Given the description of an element on the screen output the (x, y) to click on. 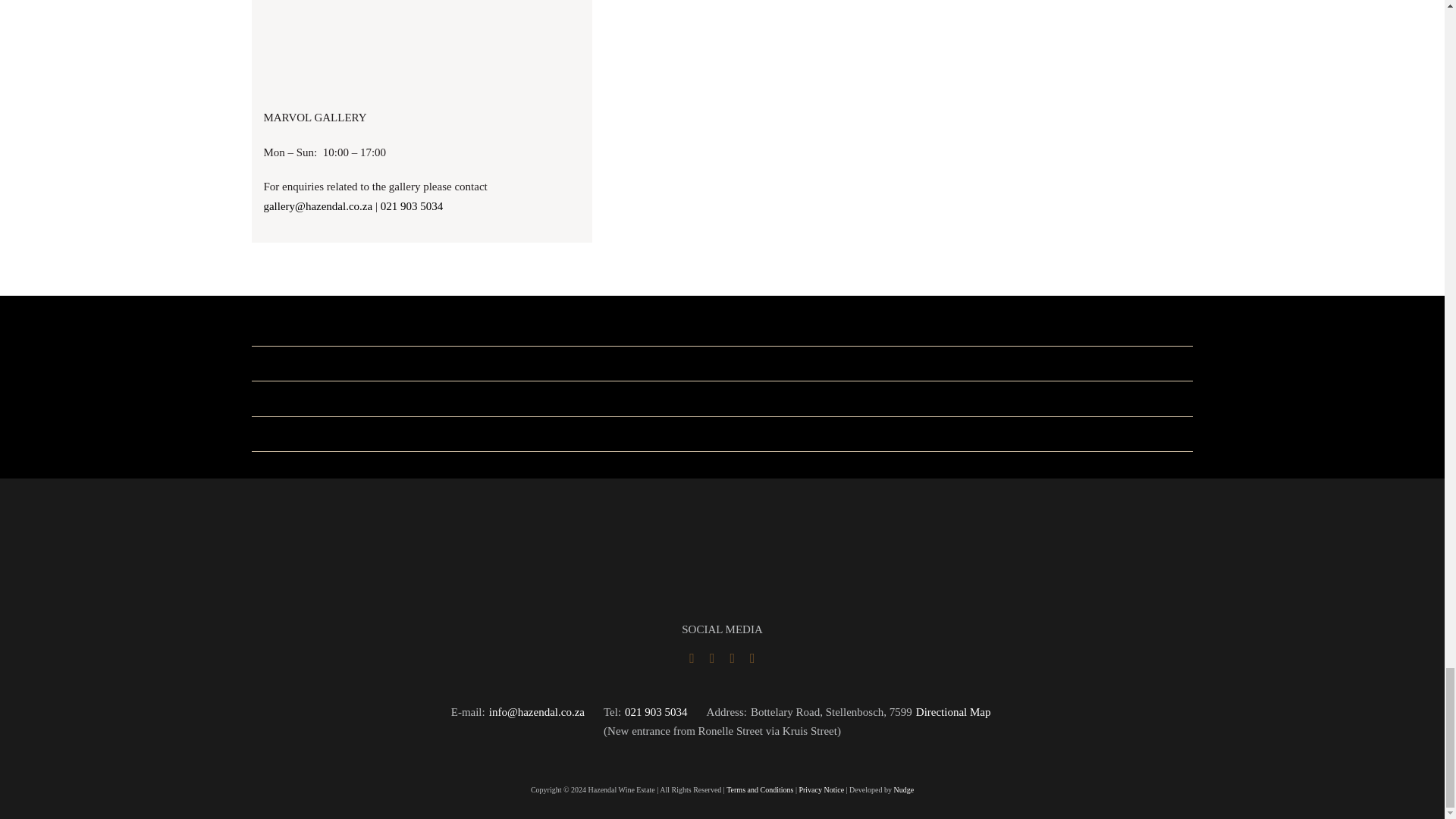
GUEST REVIEWS (305, 327)
SUSTAINABILITY (306, 398)
OUR HISTORY (298, 433)
021 903 5034 (412, 205)
CAREERS (286, 363)
